Given the description of an element on the screen output the (x, y) to click on. 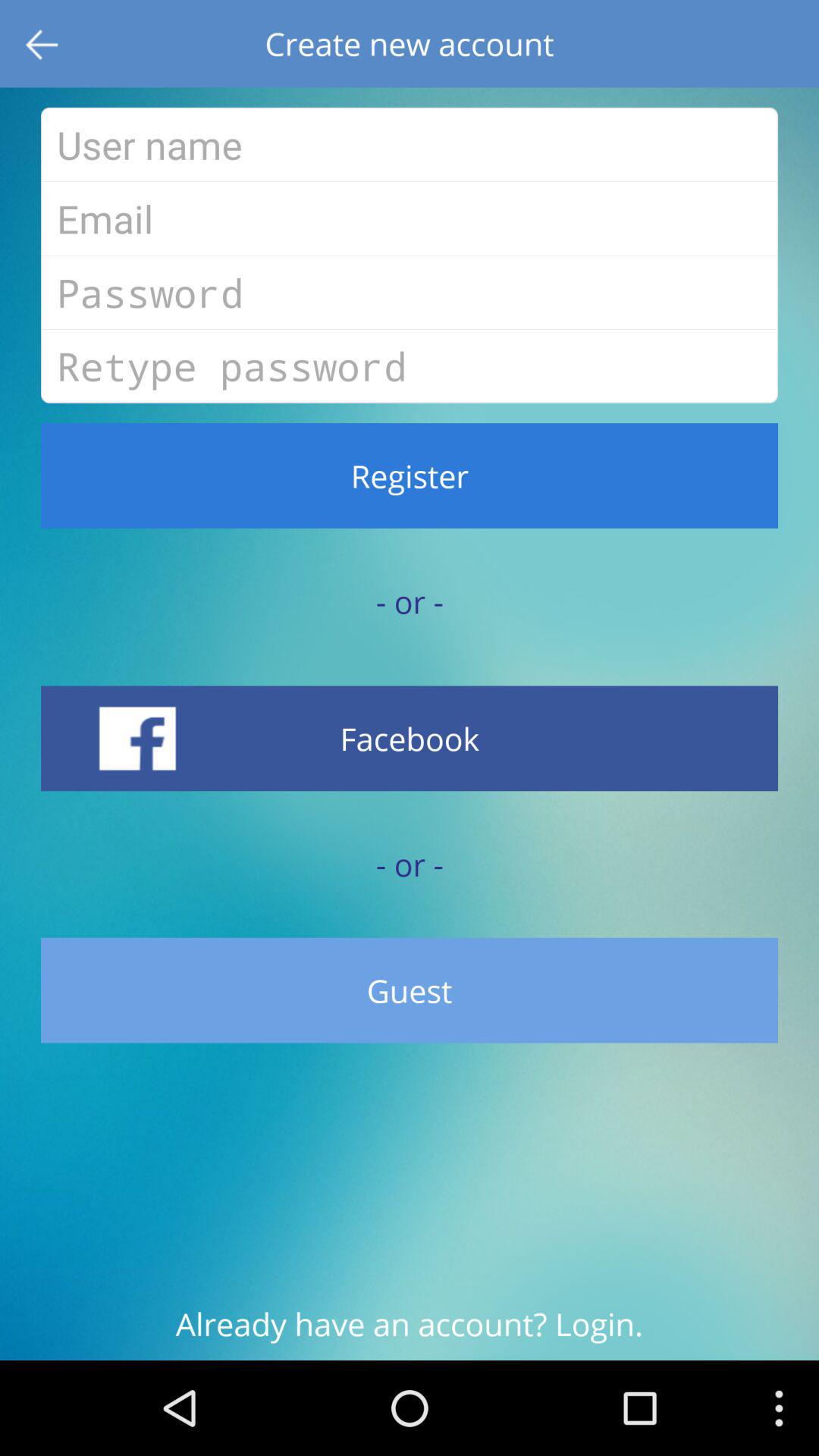
turn on facebook (409, 738)
